Given the description of an element on the screen output the (x, y) to click on. 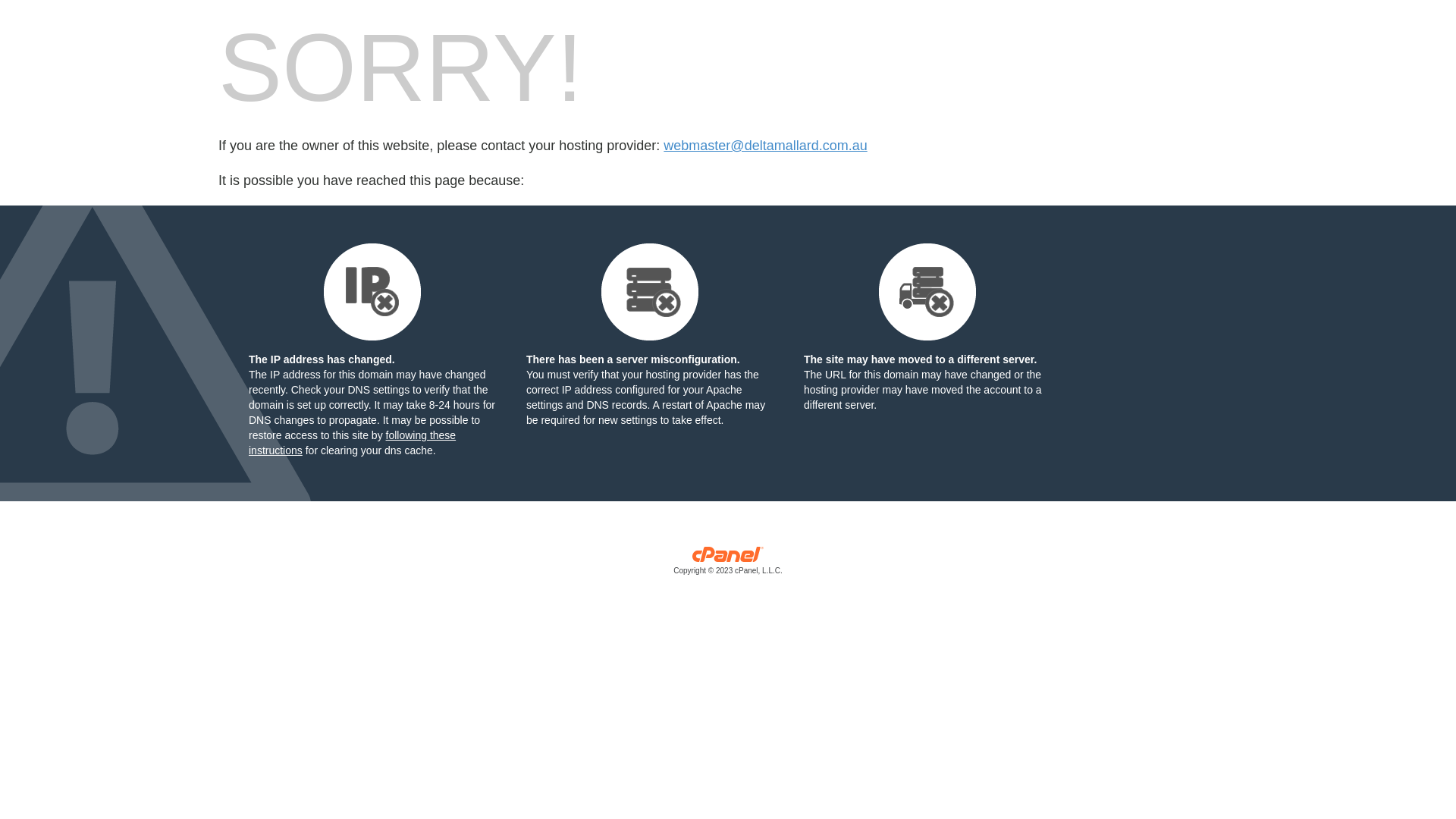
following these instructions Element type: text (351, 442)
webmaster@deltamallard.com.au Element type: text (764, 145)
